Given the description of an element on the screen output the (x, y) to click on. 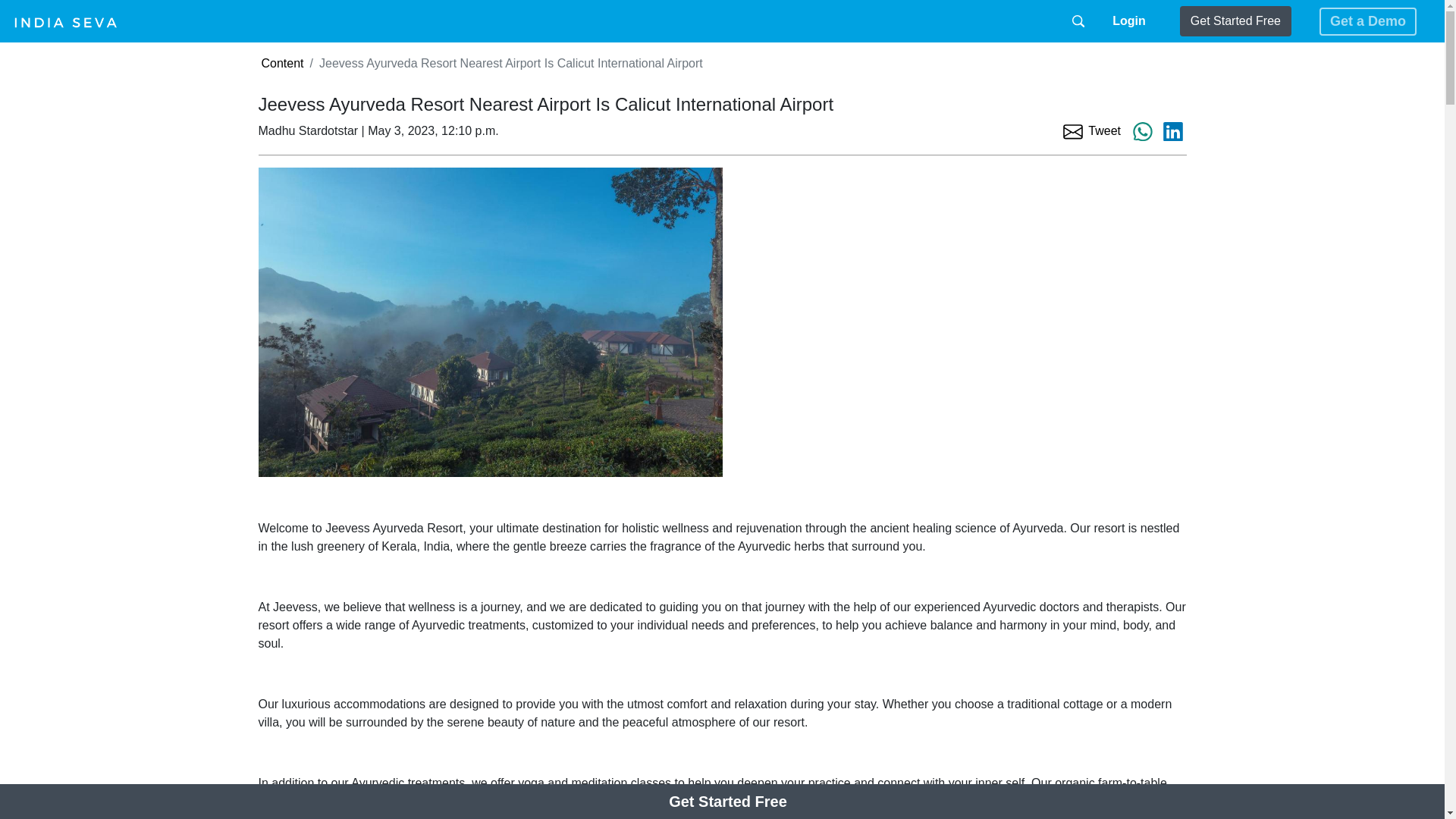
Login (1129, 21)
Get Started Free (1235, 20)
Get a Demo (1367, 21)
Content (281, 62)
Sticky footer container (727, 801)
Tweet (1104, 130)
